Given the description of an element on the screen output the (x, y) to click on. 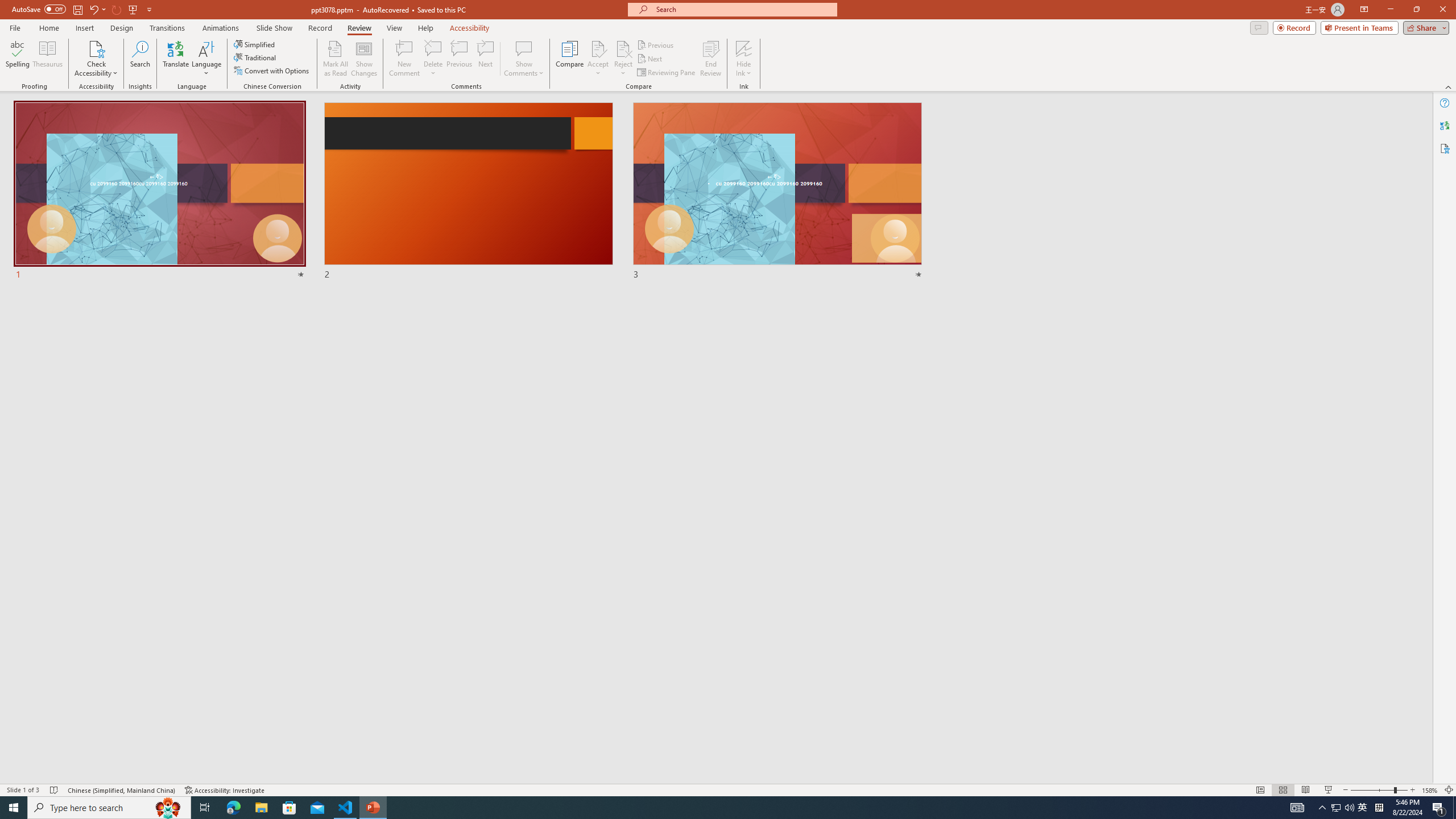
Zoom 158% (1430, 790)
